Given the description of an element on the screen output the (x, y) to click on. 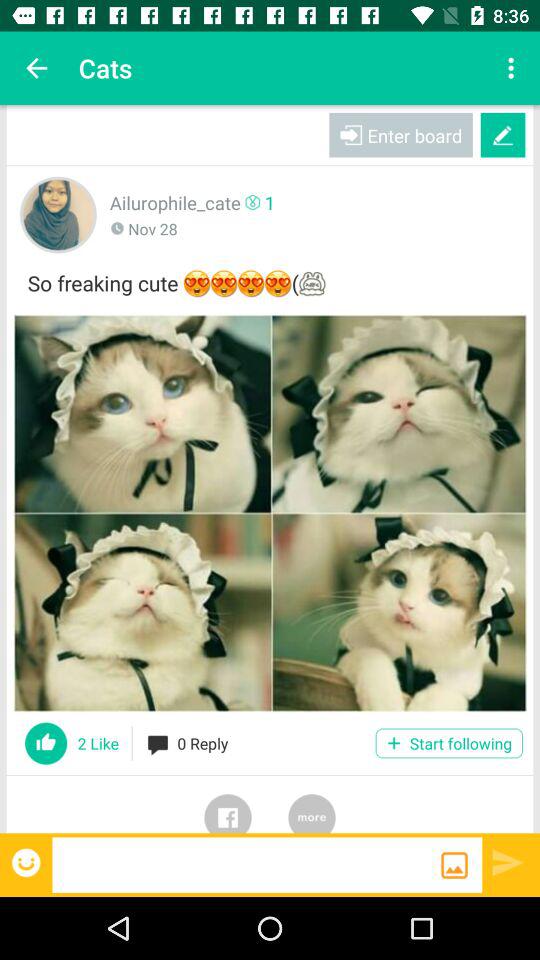
open emoji menu (28, 862)
